Given the description of an element on the screen output the (x, y) to click on. 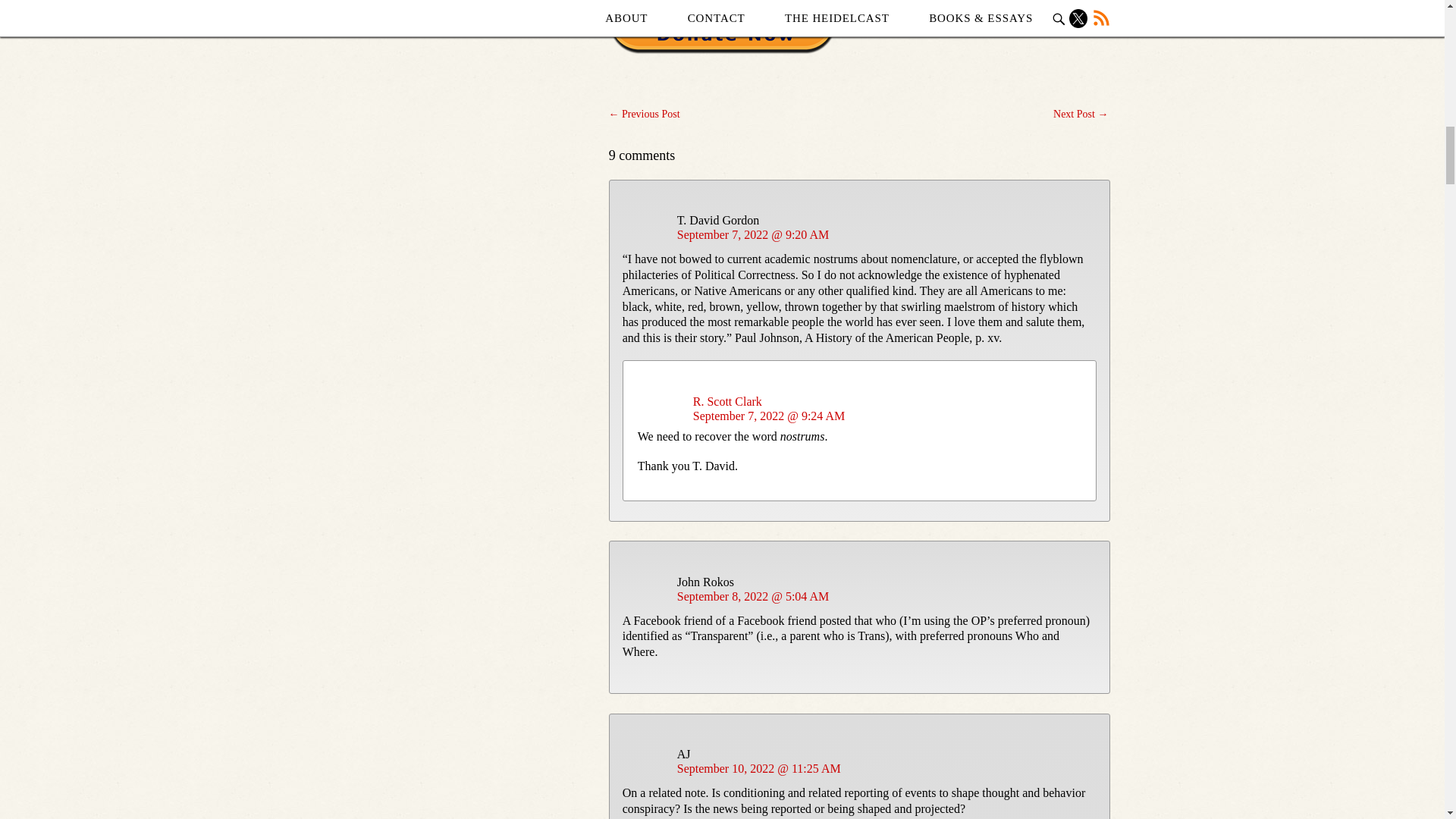
Support the Heidelblog! (721, 27)
